Given the description of an element on the screen output the (x, y) to click on. 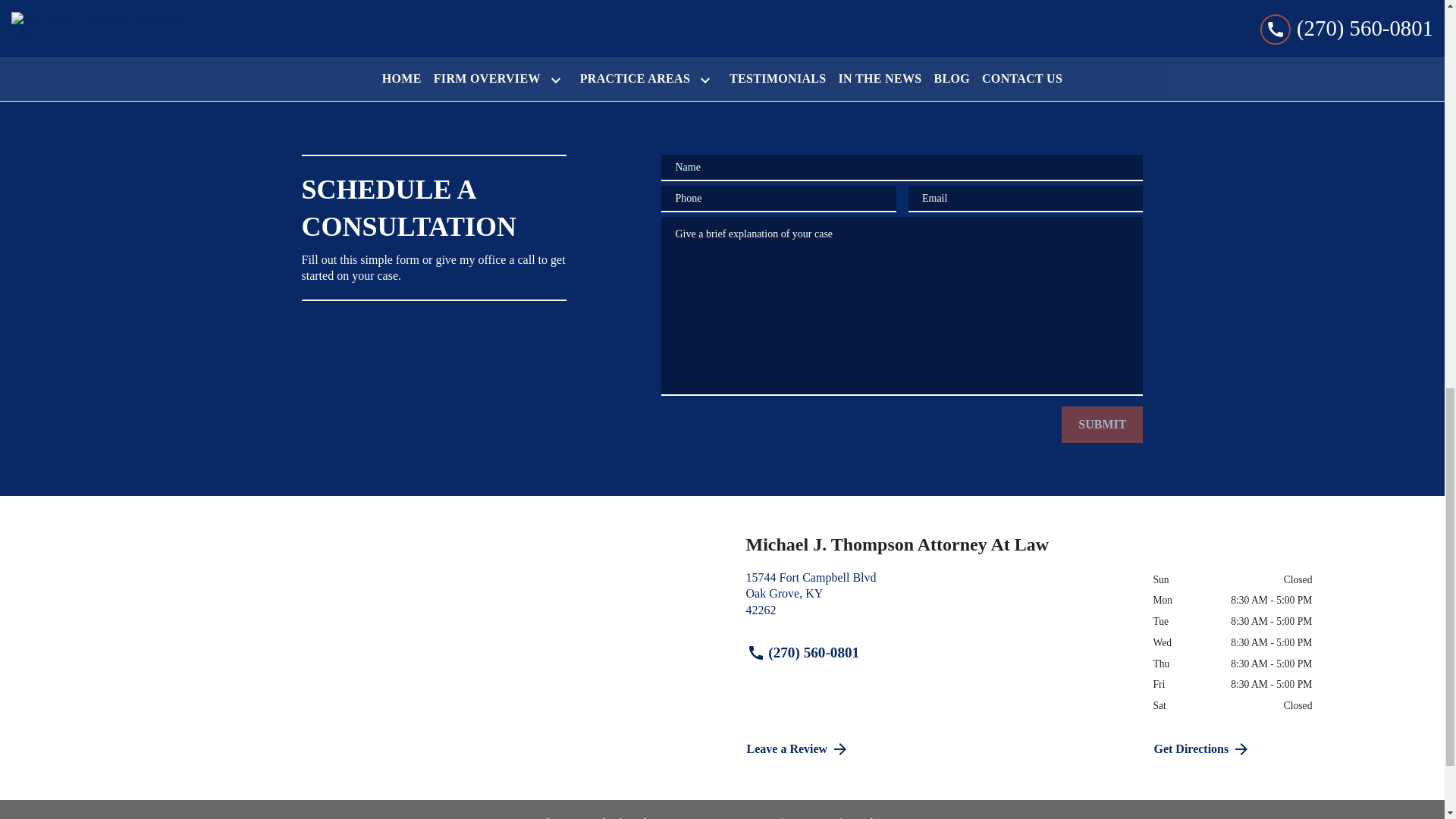
Alternative Sentences, (451, 44)
